Given the description of an element on the screen output the (x, y) to click on. 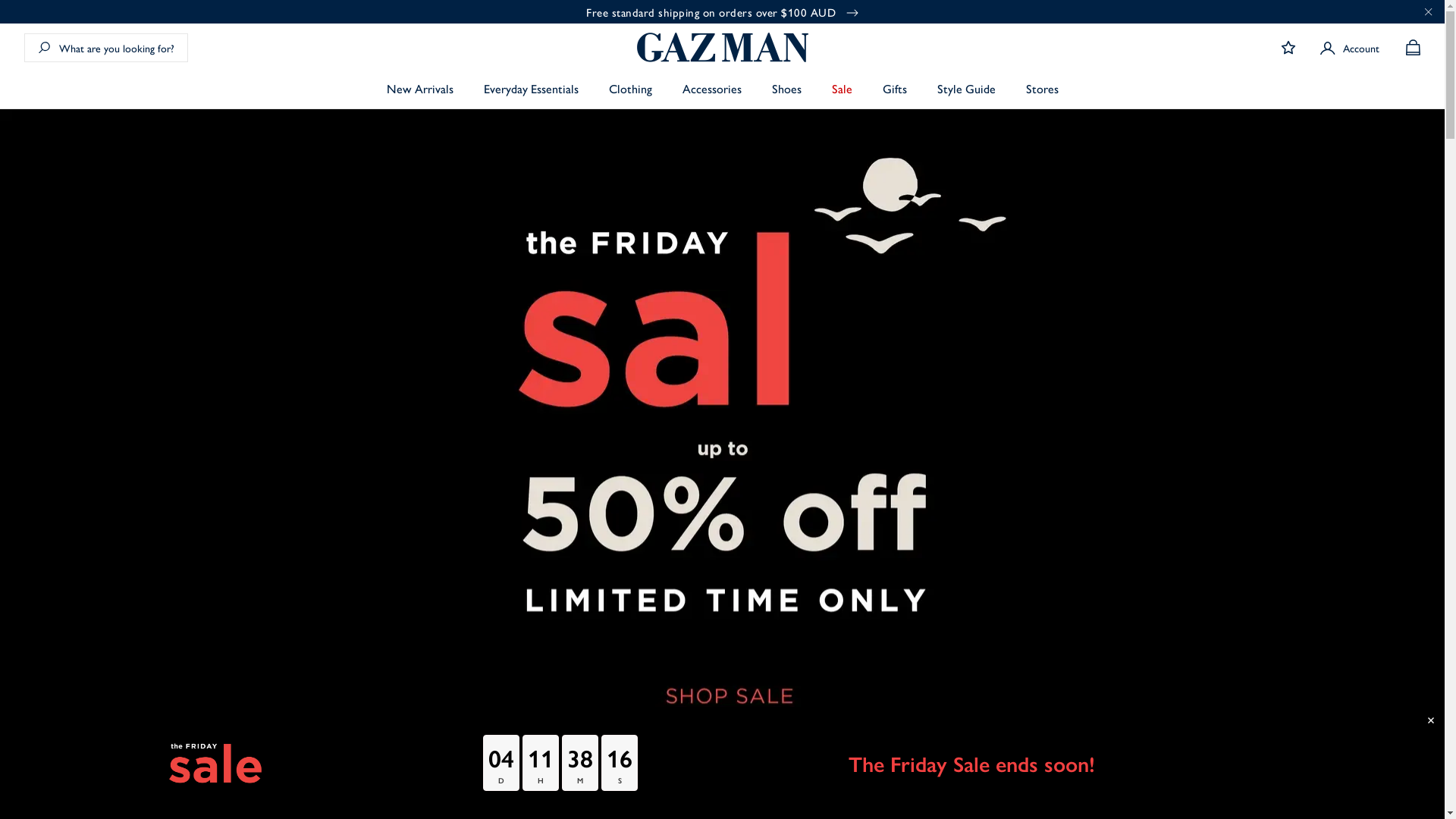
Sale Element type: text (841, 89)
Shoes Element type: text (786, 89)
Gifts Element type: text (894, 89)
Close Element type: hover (1428, 11)
Clothing Element type: text (629, 89)
Style Guide Element type: text (966, 89)
Account Element type: text (1349, 47)
Stores Element type: text (1041, 89)
Everyday Essentials Element type: text (530, 89)
wishlist Element type: hover (1287, 46)
Free standard shipping on orders over $100 AUD Element type: text (722, 11)
New Arrivals Element type: text (419, 89)
GAZMAN Element type: hover (722, 46)
Accessories Element type: text (711, 89)
